Given the description of an element on the screen output the (x, y) to click on. 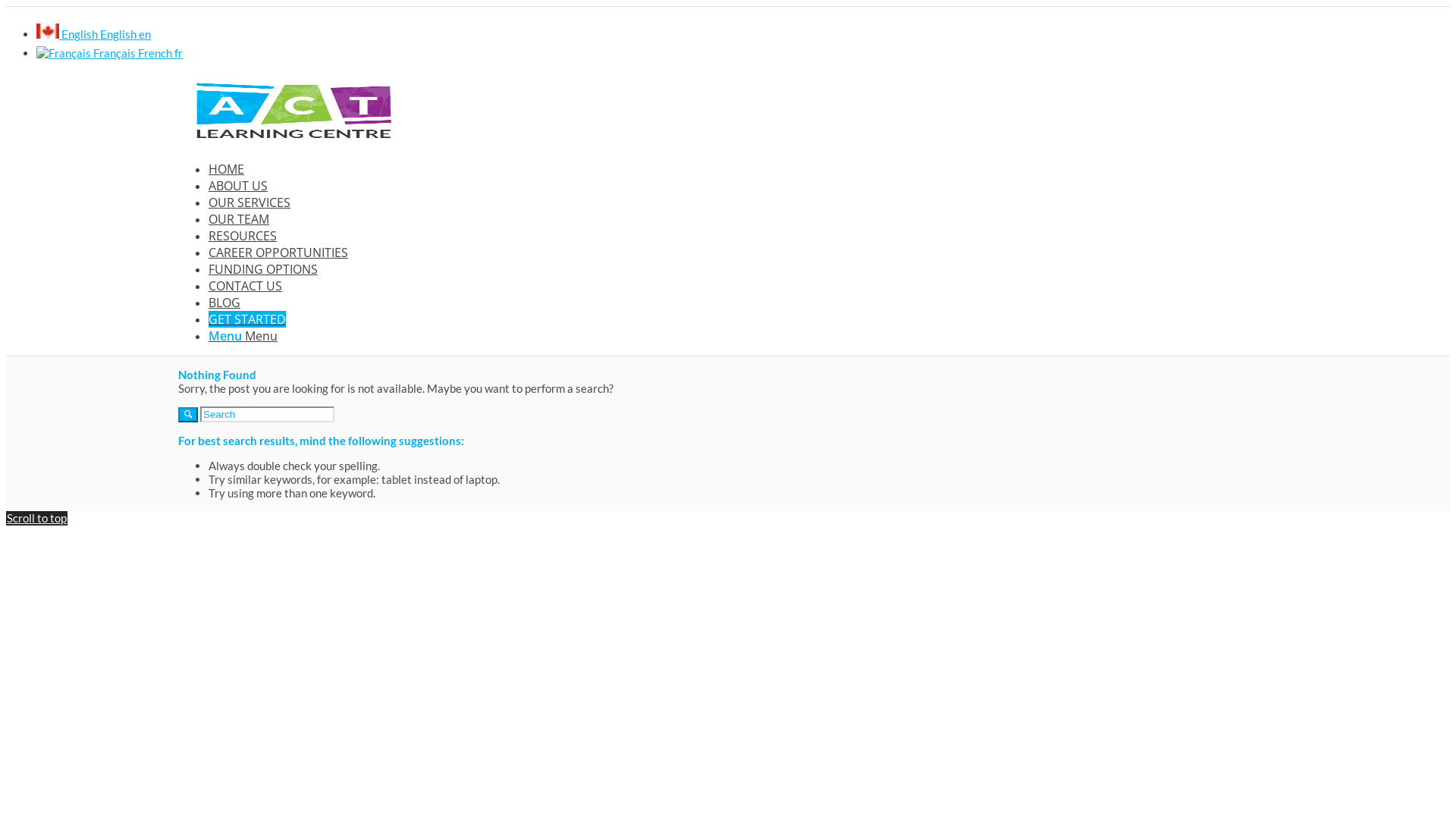
CONTACT US Element type: text (245, 285)
GET STARTED Element type: text (246, 318)
English Element type: hover (47, 30)
Menu Menu Element type: text (242, 335)
FUNDING OPTIONS Element type: text (262, 268)
BLOG Element type: text (224, 302)
English English en Element type: text (93, 33)
Scroll to top Element type: text (36, 517)
CAREER OPPORTUNITIES Element type: text (278, 252)
ACT Logo Element type: hover (291, 109)
HOME Element type: text (226, 168)
OUR TEAM Element type: text (238, 218)
RESOURCES Element type: text (242, 235)
OUR SERVICES Element type: text (249, 202)
ABOUT US Element type: text (237, 185)
